Given the description of an element on the screen output the (x, y) to click on. 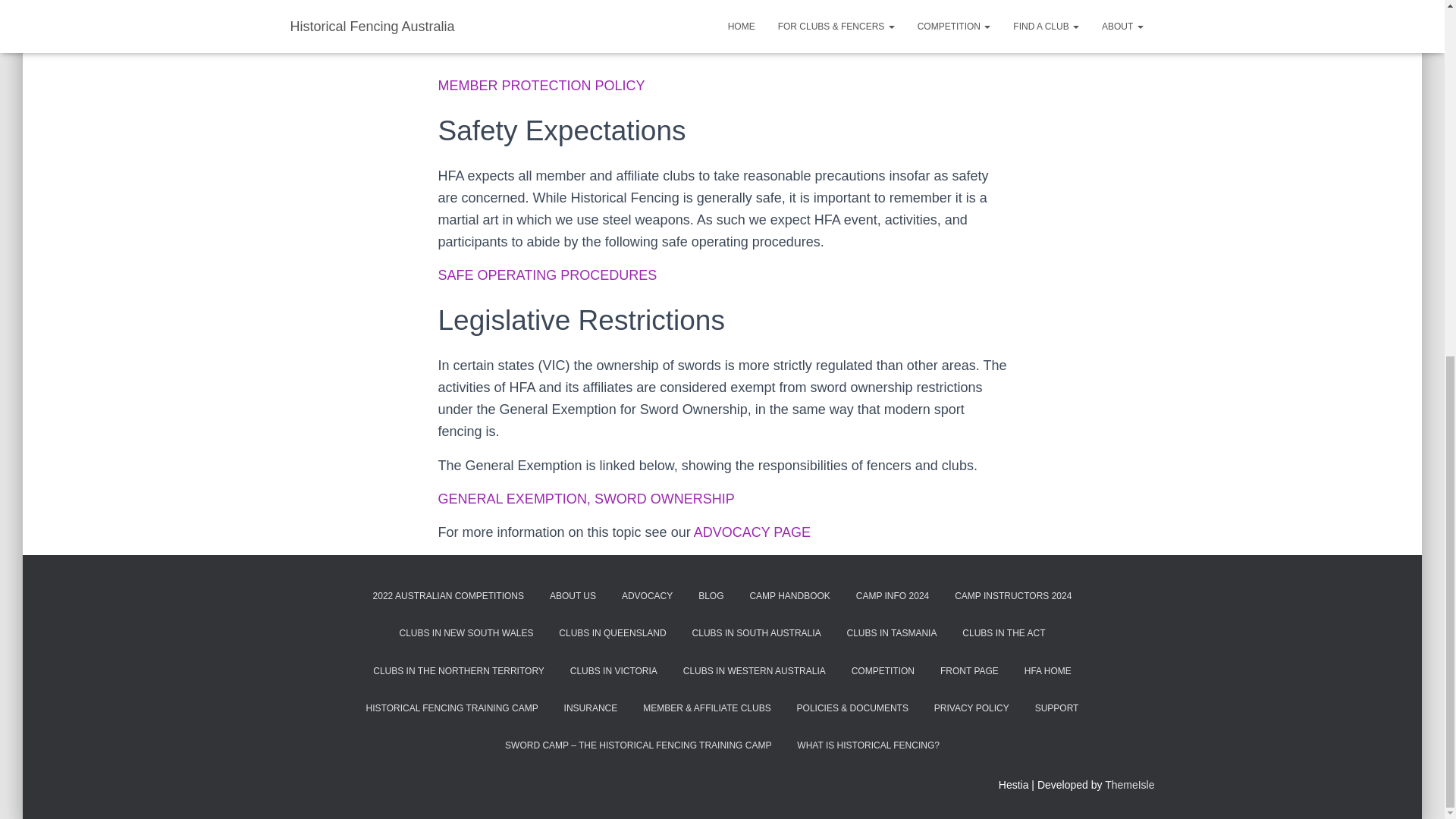
CAMP INFO 2024 (892, 596)
CAMP HANDBOOK (789, 596)
ADVOCACY (647, 596)
ABOUT US (572, 596)
BLOG (711, 596)
2022 AUSTRALIAN COMPETITIONS (448, 596)
ADVOCACY PAGE (752, 531)
GENERAL EXEMPTION, SWORD OWNERSHIP (586, 498)
MEMBER PROTECTION POLICY (541, 85)
SAFE OPERATING PROCEDURES (548, 274)
